Given the description of an element on the screen output the (x, y) to click on. 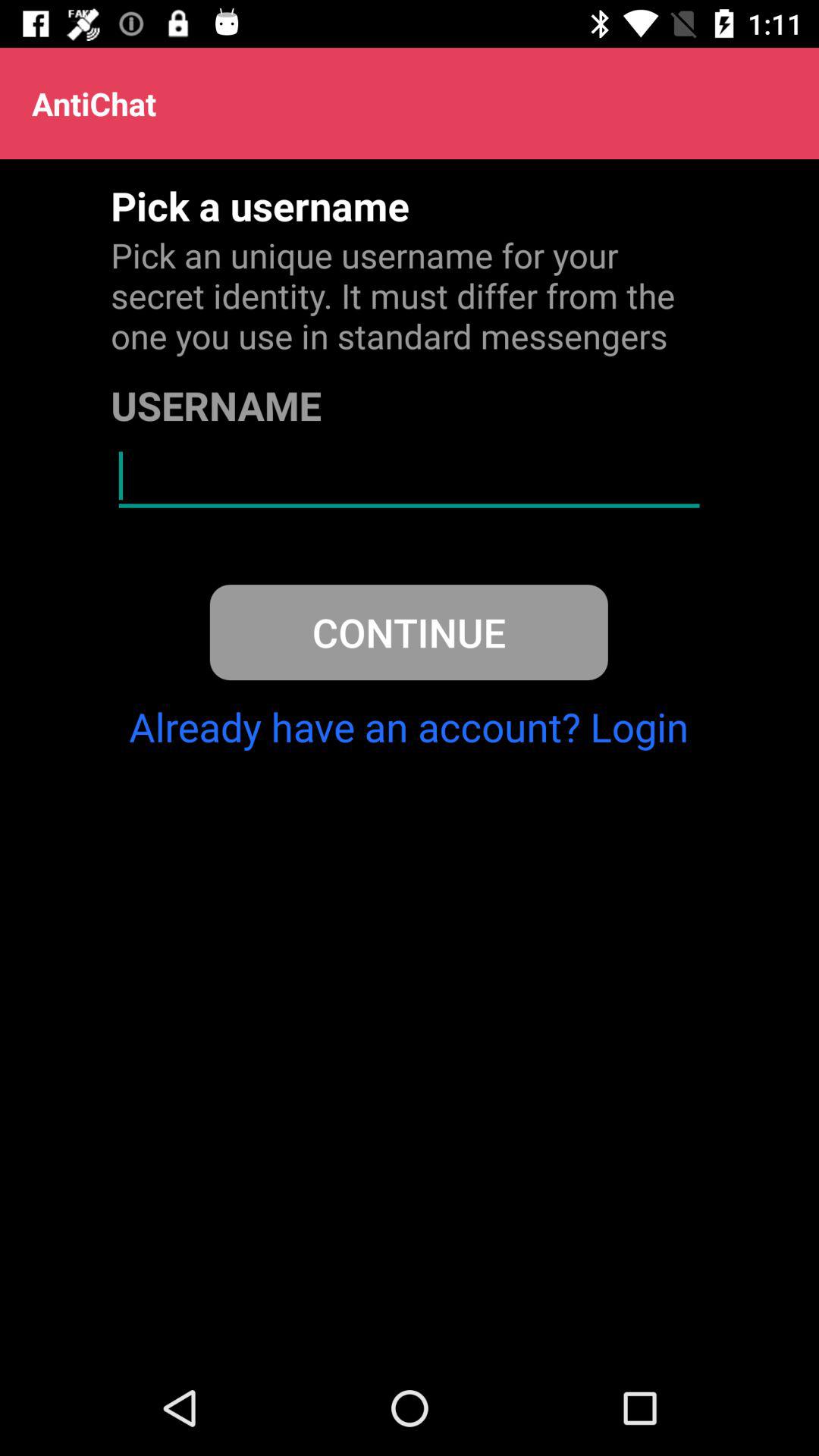
enter username (408, 476)
